Given the description of an element on the screen output the (x, y) to click on. 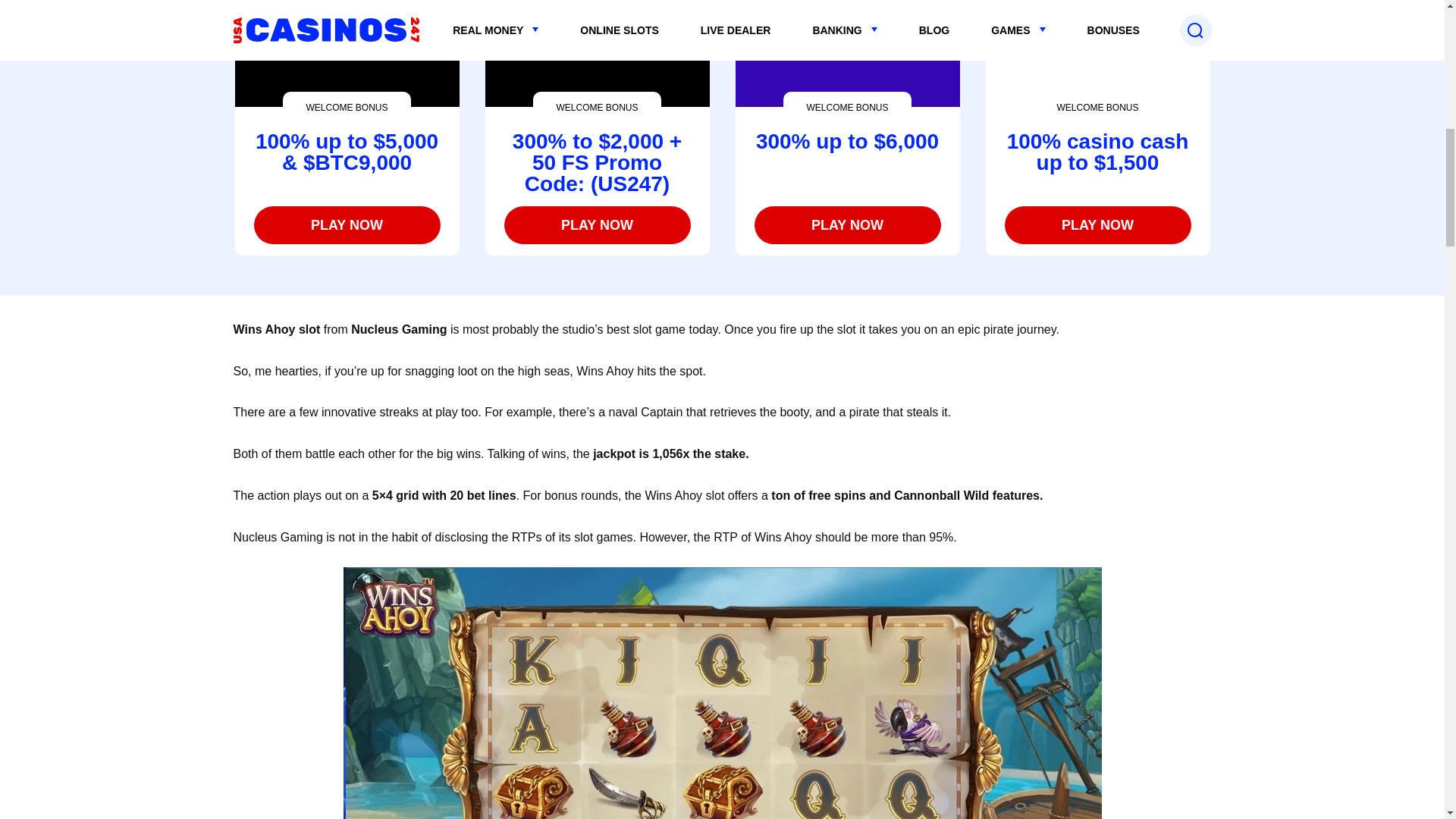
BUSR (1097, 225)
MYB Casino (596, 225)
PLAY NOW (346, 225)
Wild Casino (346, 225)
PLAY NOW (596, 225)
PayDay Casino (847, 225)
PLAY NOW (847, 225)
